Given the description of an element on the screen output the (x, y) to click on. 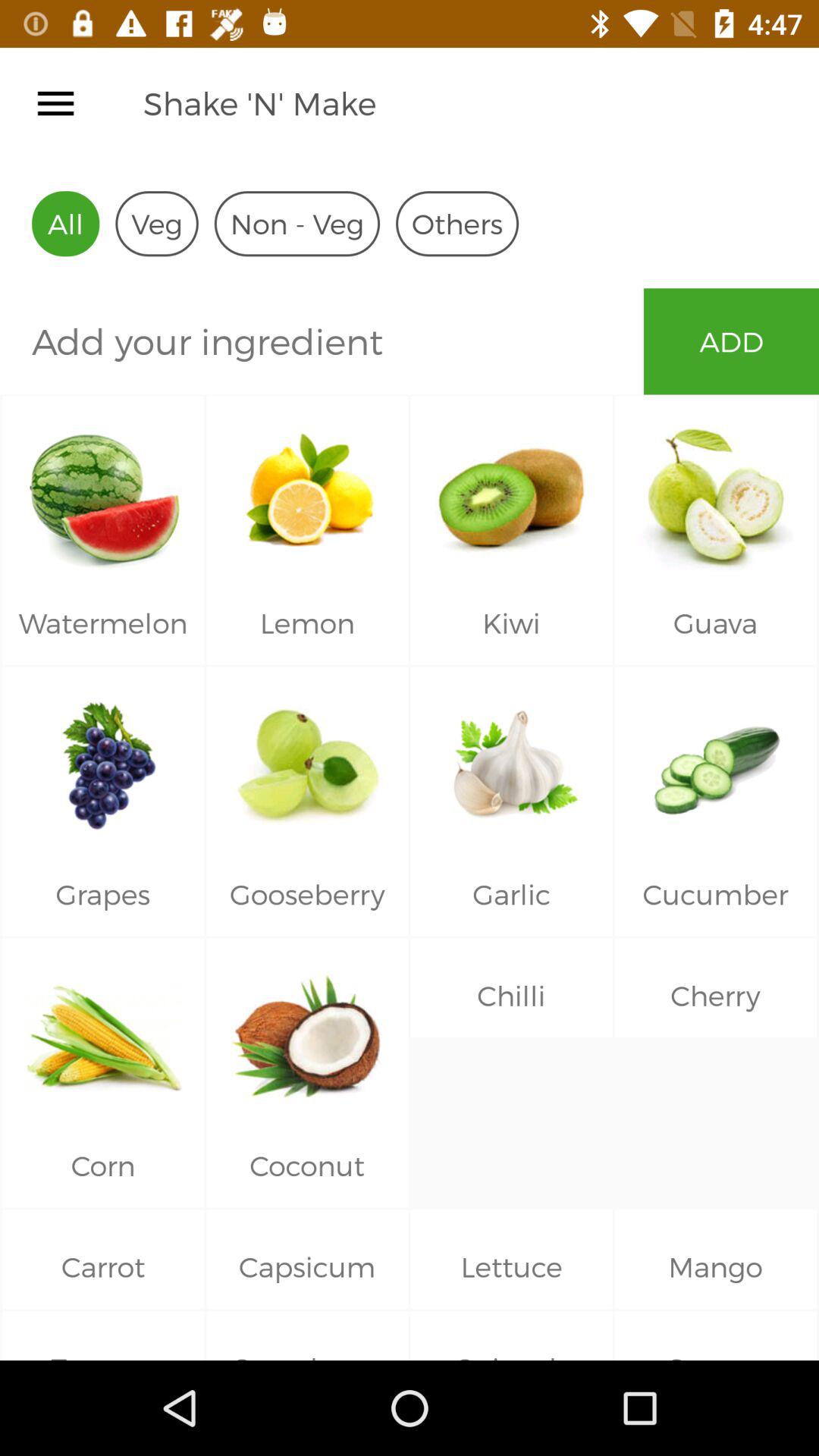
select the garlic image (511, 759)
select the grapes image (102, 759)
select cherry (715, 1031)
select on the capsicum text (307, 1284)
select the lemon image (307, 488)
click on all (65, 223)
